Given the description of an element on the screen output the (x, y) to click on. 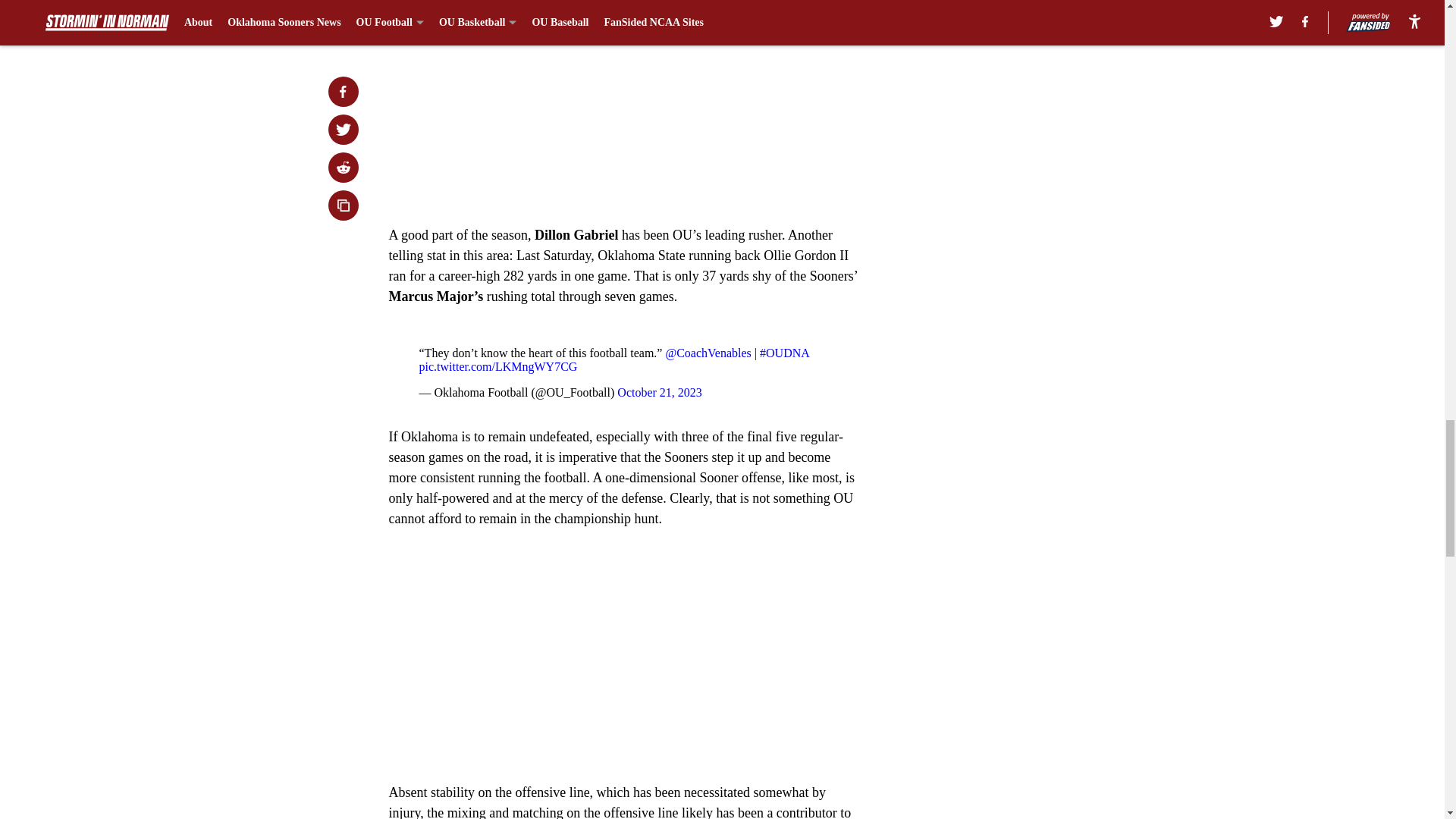
October 21, 2023 (659, 391)
